Given the description of an element on the screen output the (x, y) to click on. 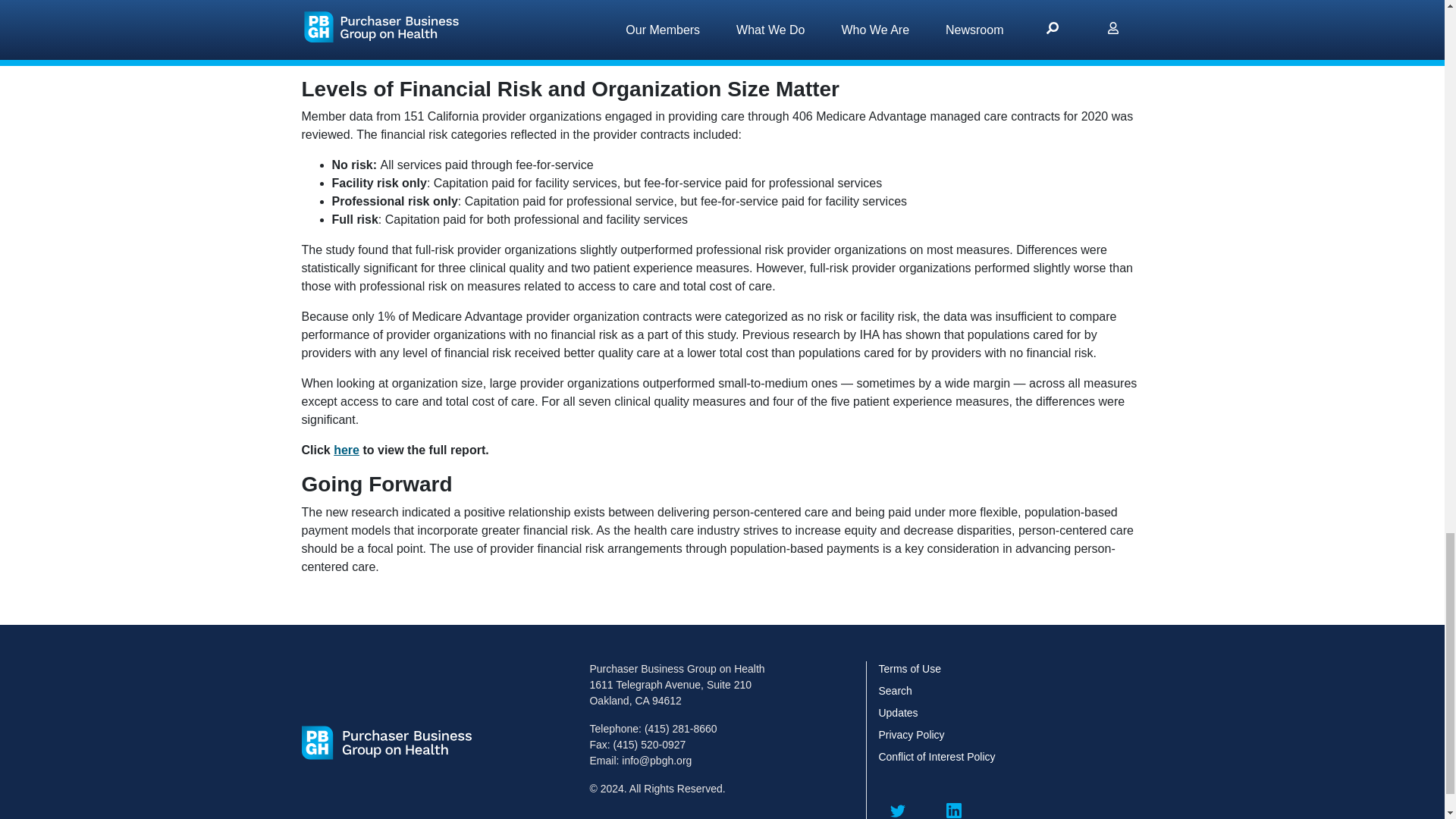
Follow on Linkedin (954, 805)
Follow on Twitter (899, 805)
